Given the description of an element on the screen output the (x, y) to click on. 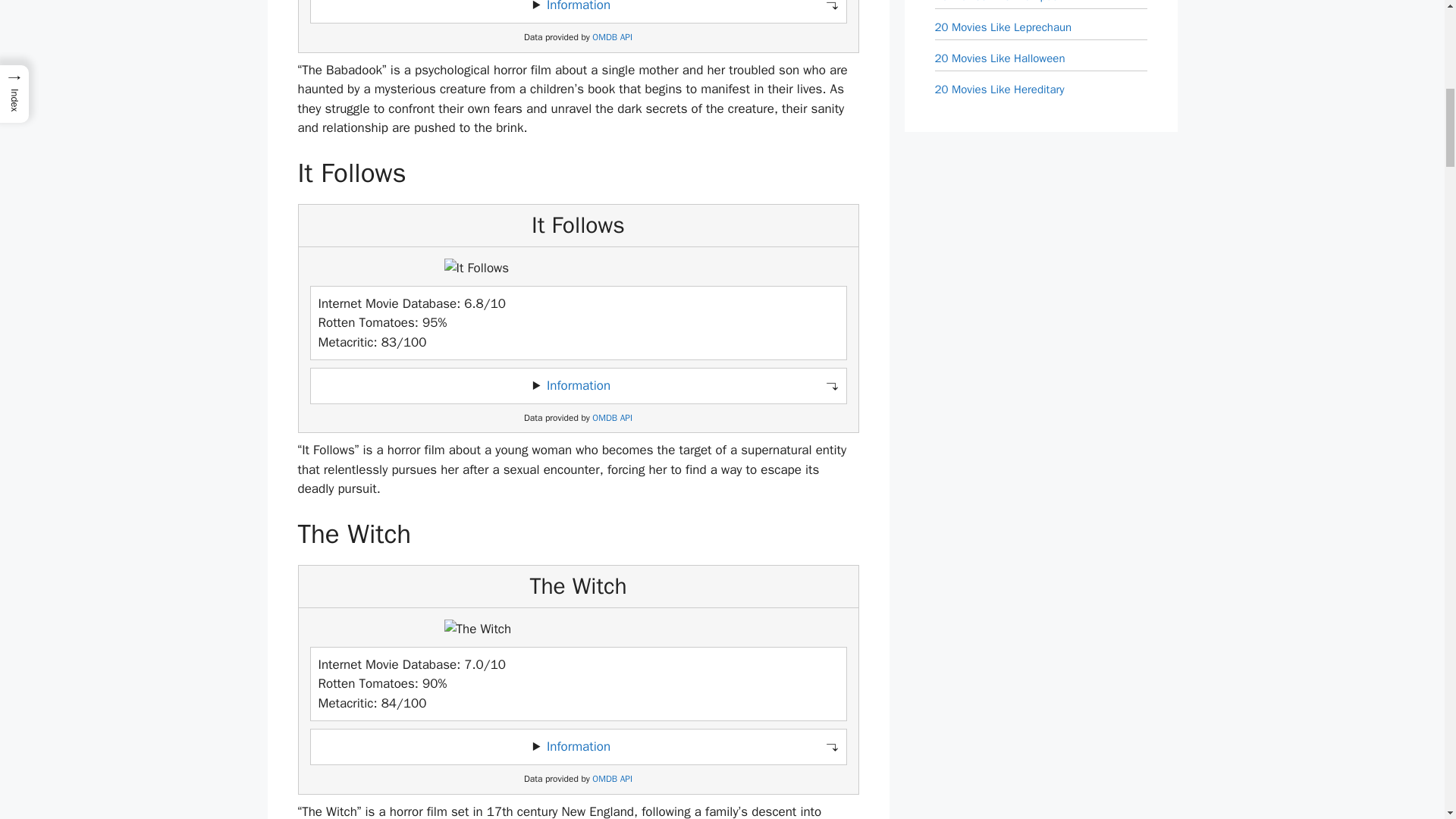
Toggle information (578, 746)
Open Movie Database API (611, 37)
OMDB API (611, 418)
Open Movie Database API (611, 418)
Toggle information (578, 385)
Toggle information (578, 11)
Information (578, 6)
OMDB API (611, 37)
Open Movie Database API (611, 778)
OMDB API (611, 778)
Information (578, 385)
Information (578, 746)
